Given the description of an element on the screen output the (x, y) to click on. 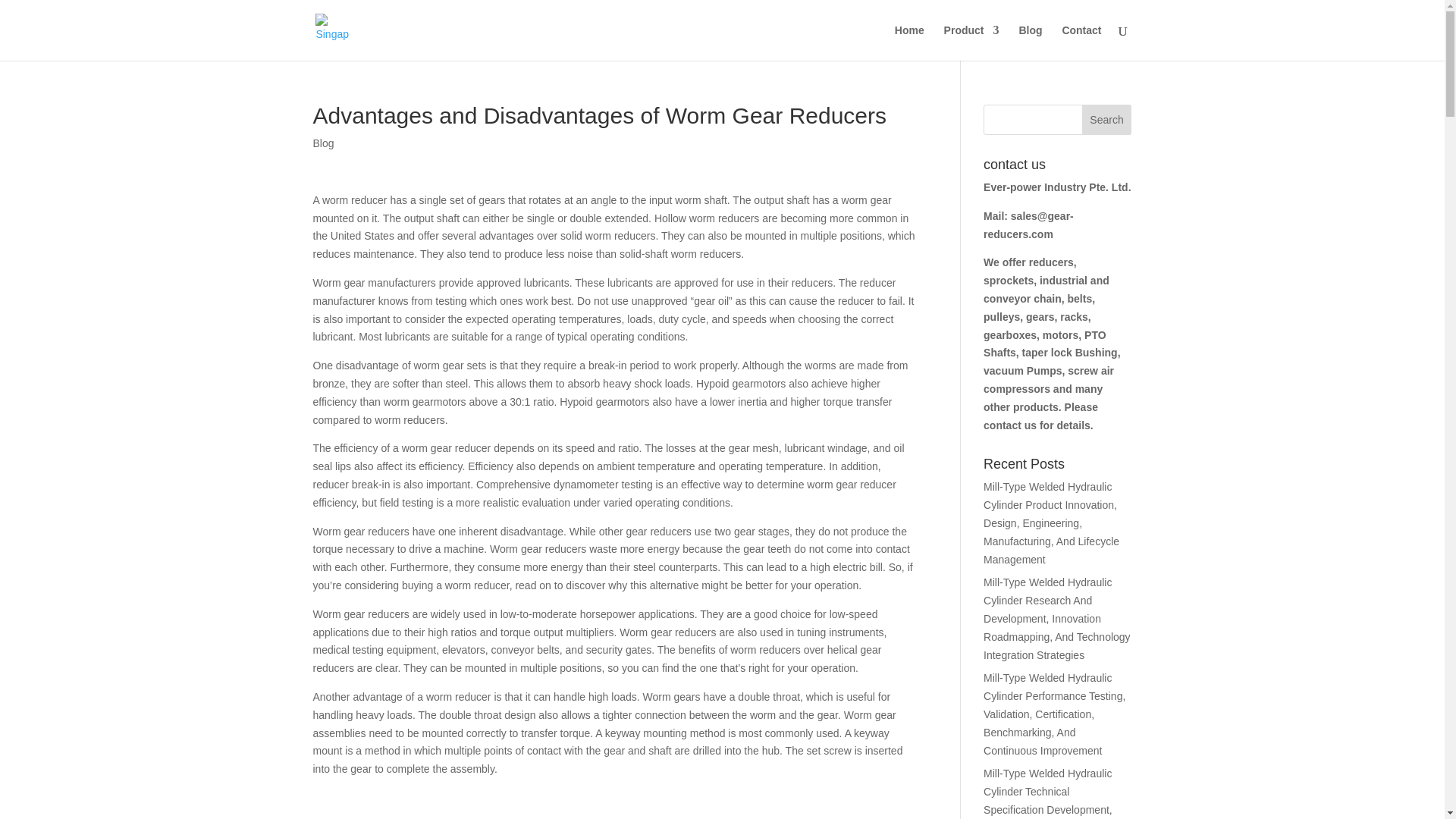
Search (1106, 119)
Blog (323, 143)
Search (1106, 119)
Product (970, 42)
Contact (1080, 42)
